Given the description of an element on the screen output the (x, y) to click on. 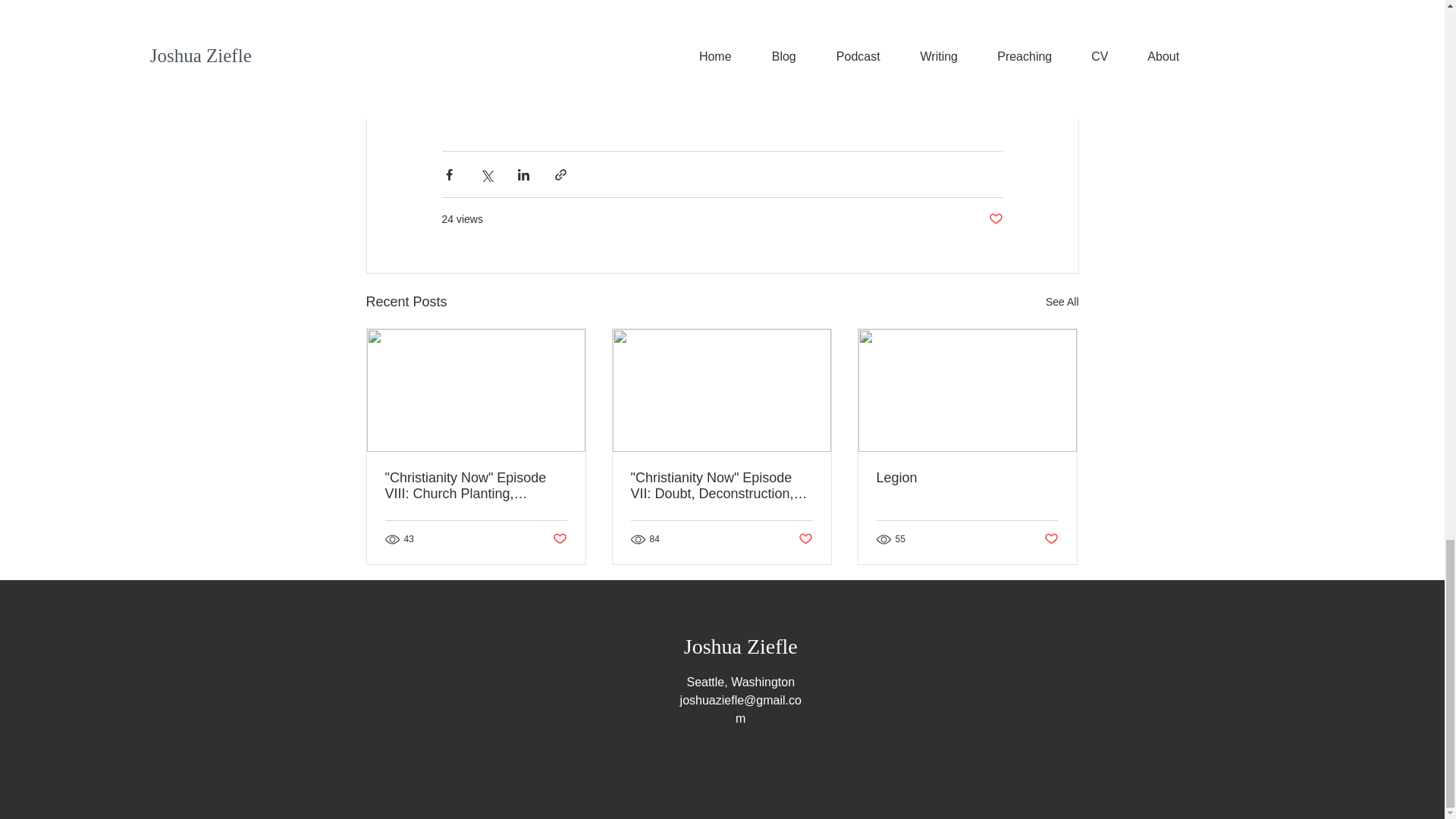
Post not marked as liked (1050, 538)
Legion (967, 478)
Post not marked as liked (995, 219)
See All (1061, 301)
Post not marked as liked (804, 538)
Post not marked as liked (558, 538)
